Given the description of an element on the screen output the (x, y) to click on. 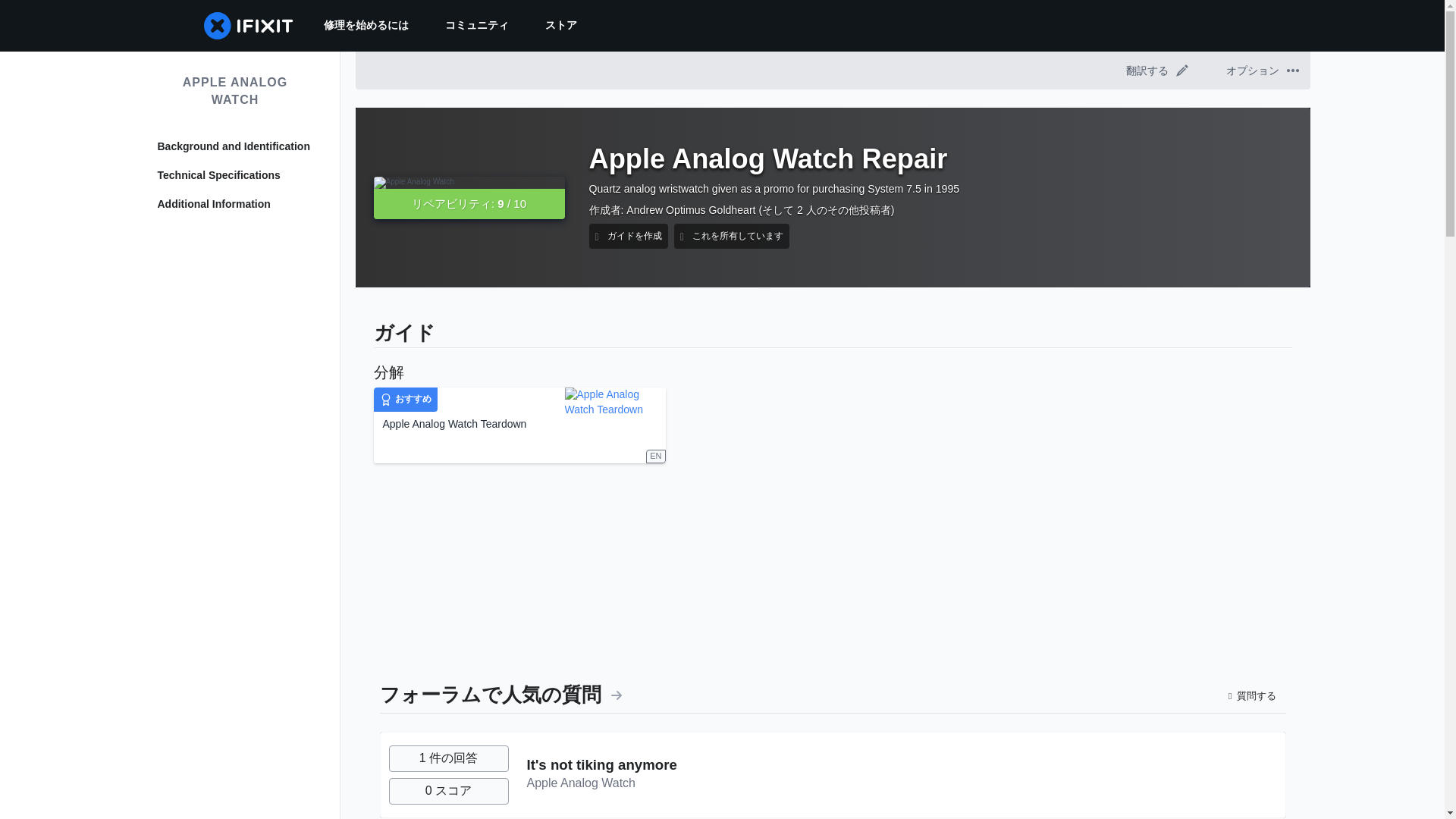
Additional Information (235, 204)
Background and Identification (235, 146)
It's not tiking anymore (601, 795)
Apple Analog Watch (579, 812)
Andrew Optimus Goldheart (690, 224)
It's not tiking anymore (601, 795)
APPLE ANALOG WATCH (234, 91)
Technical Specifications (235, 175)
